Given the description of an element on the screen output the (x, y) to click on. 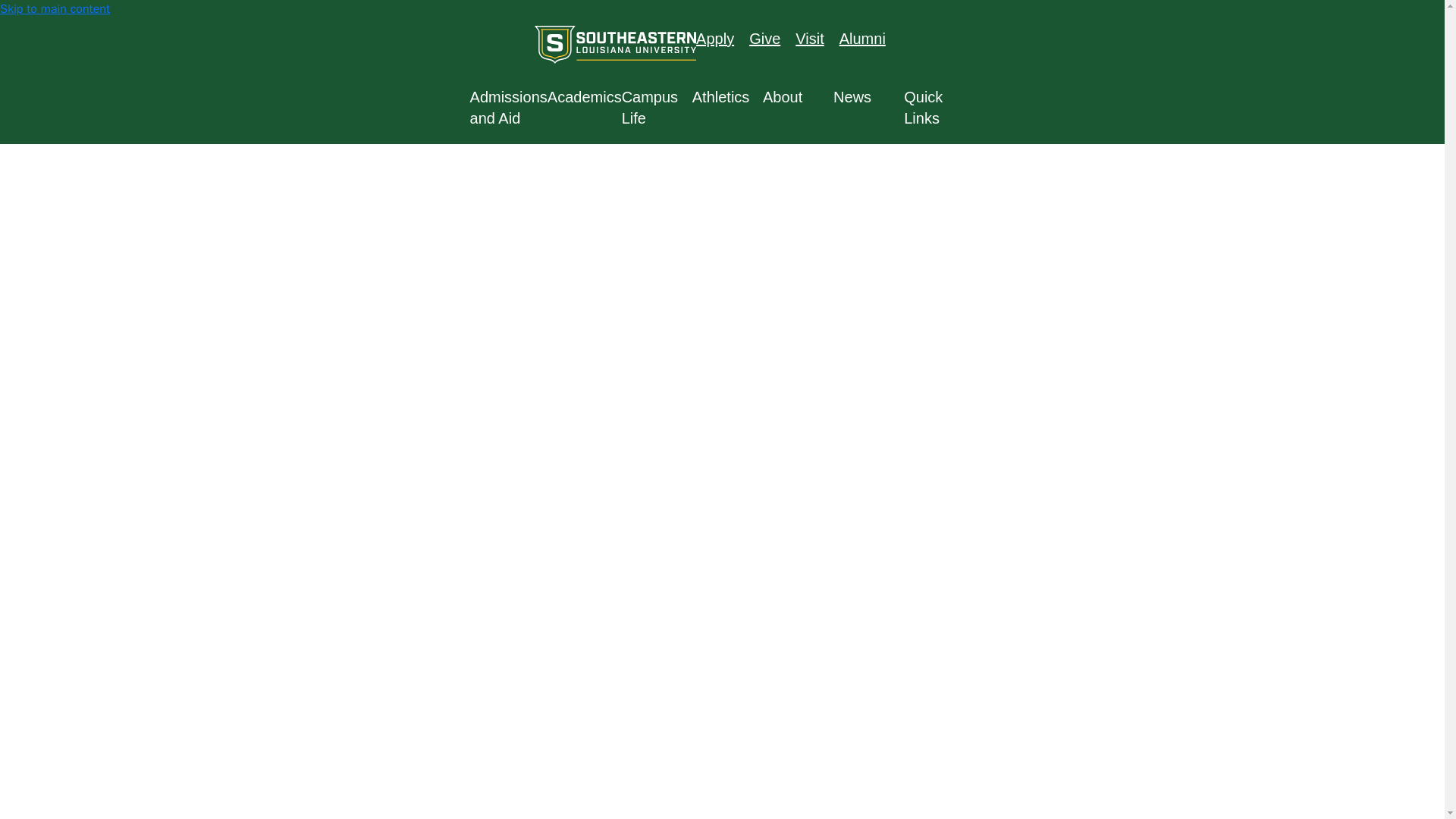
Alumni (862, 38)
Visit (809, 38)
Apply (714, 38)
Academics (584, 96)
Give (764, 38)
Campus Life (657, 107)
Admissions and Aid (508, 107)
